Given the description of an element on the screen output the (x, y) to click on. 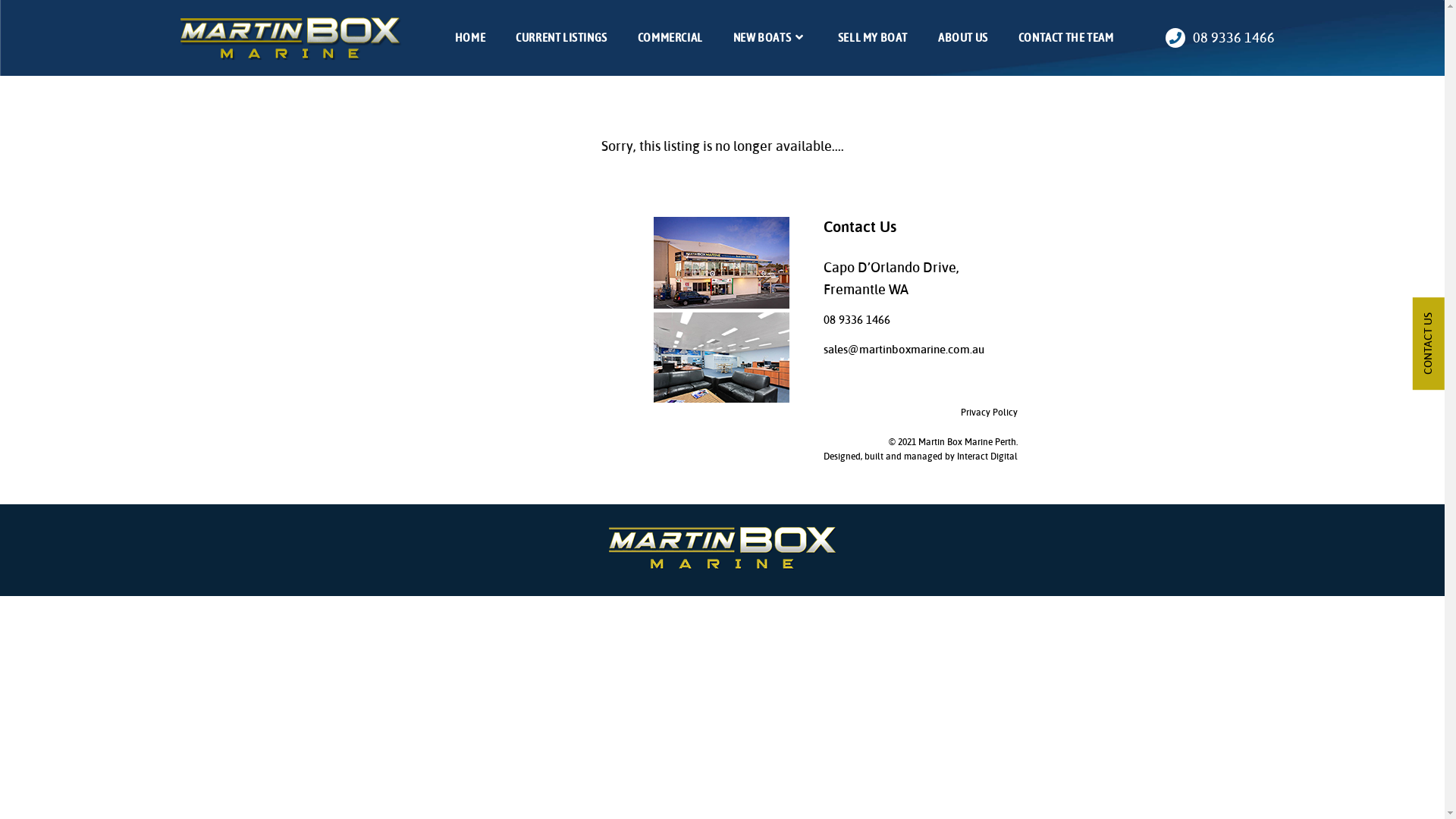
08 9336 1466 Element type: text (1219, 37)
sales@martinboxmarine.com.au Element type: text (903, 349)
COMMERCIAL Element type: text (670, 37)
NEW BOATS Element type: text (770, 37)
ABOUT US Element type: text (962, 37)
HOME Element type: text (469, 37)
CURRENT LISTINGS Element type: text (561, 37)
SELL MY BOAT Element type: text (872, 37)
08 9336 1466 Element type: text (856, 319)
Privacy Policy Element type: text (988, 412)
CONTACT THE TEAM Element type: text (1066, 37)
